Given the description of an element on the screen output the (x, y) to click on. 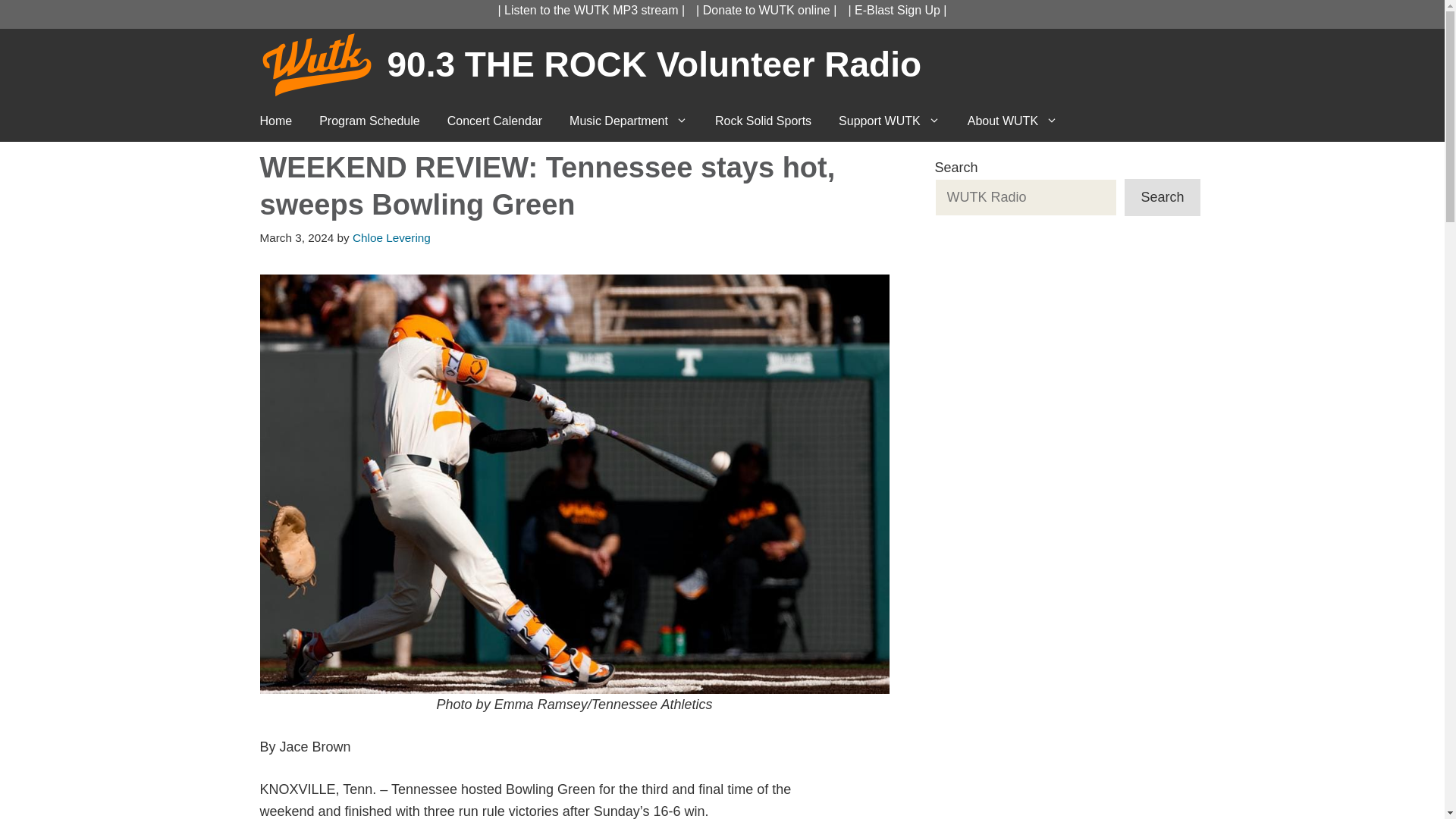
Concert Calendar (494, 120)
E-Blast Sign Up (897, 10)
Home (275, 120)
90.3 THE ROCK Volunteer Radio (654, 64)
Listen to the WUTK MP3 stream (590, 10)
Support WUTK (889, 120)
Program Schedule (369, 120)
View all posts by Chloe Levering (391, 237)
Donate to WUTK online (766, 10)
Rock Solid Sports (763, 120)
